Given the description of an element on the screen output the (x, y) to click on. 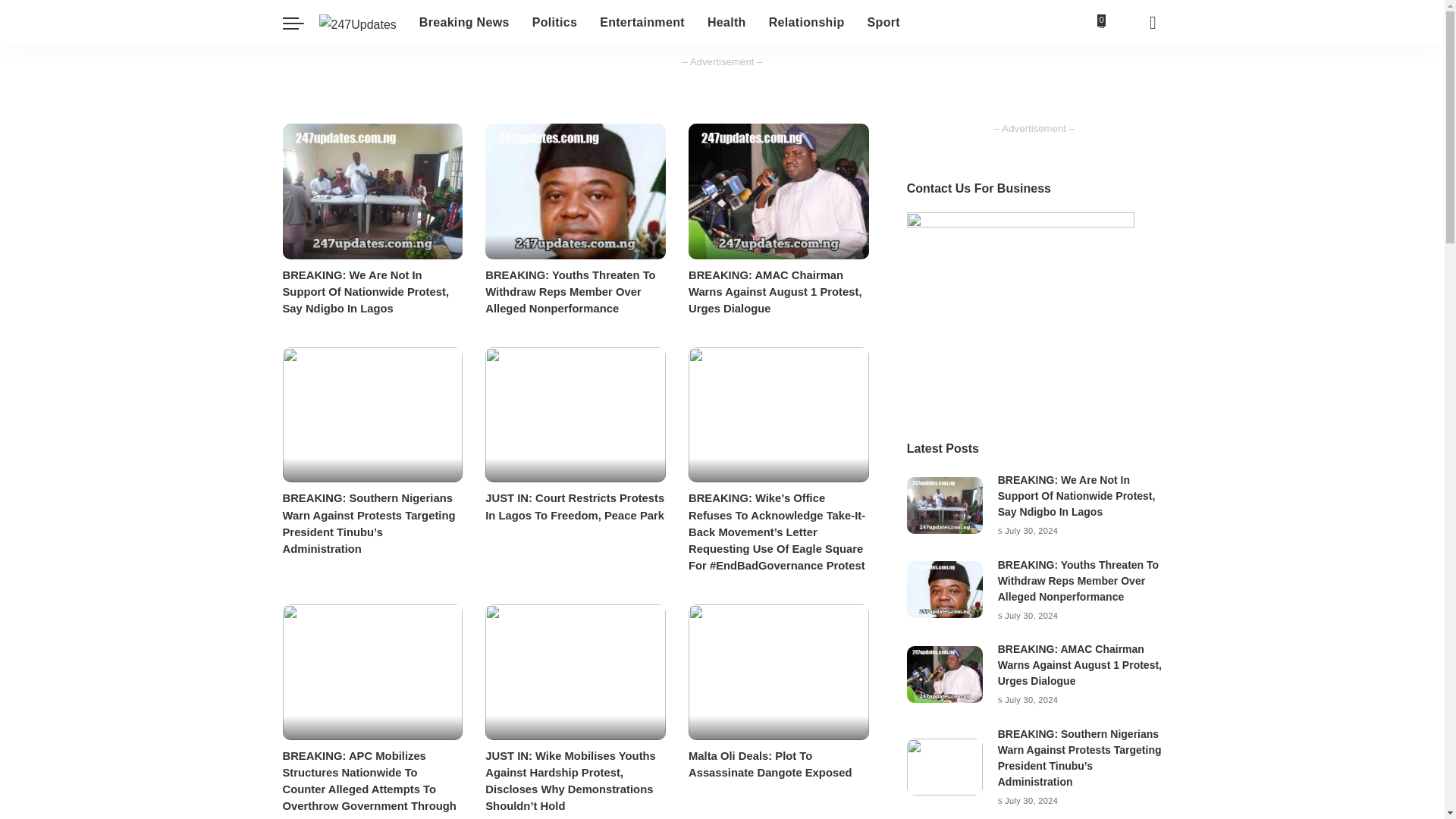
Breaking News (464, 22)
247Updates (357, 22)
Politics (554, 22)
